Given the description of an element on the screen output the (x, y) to click on. 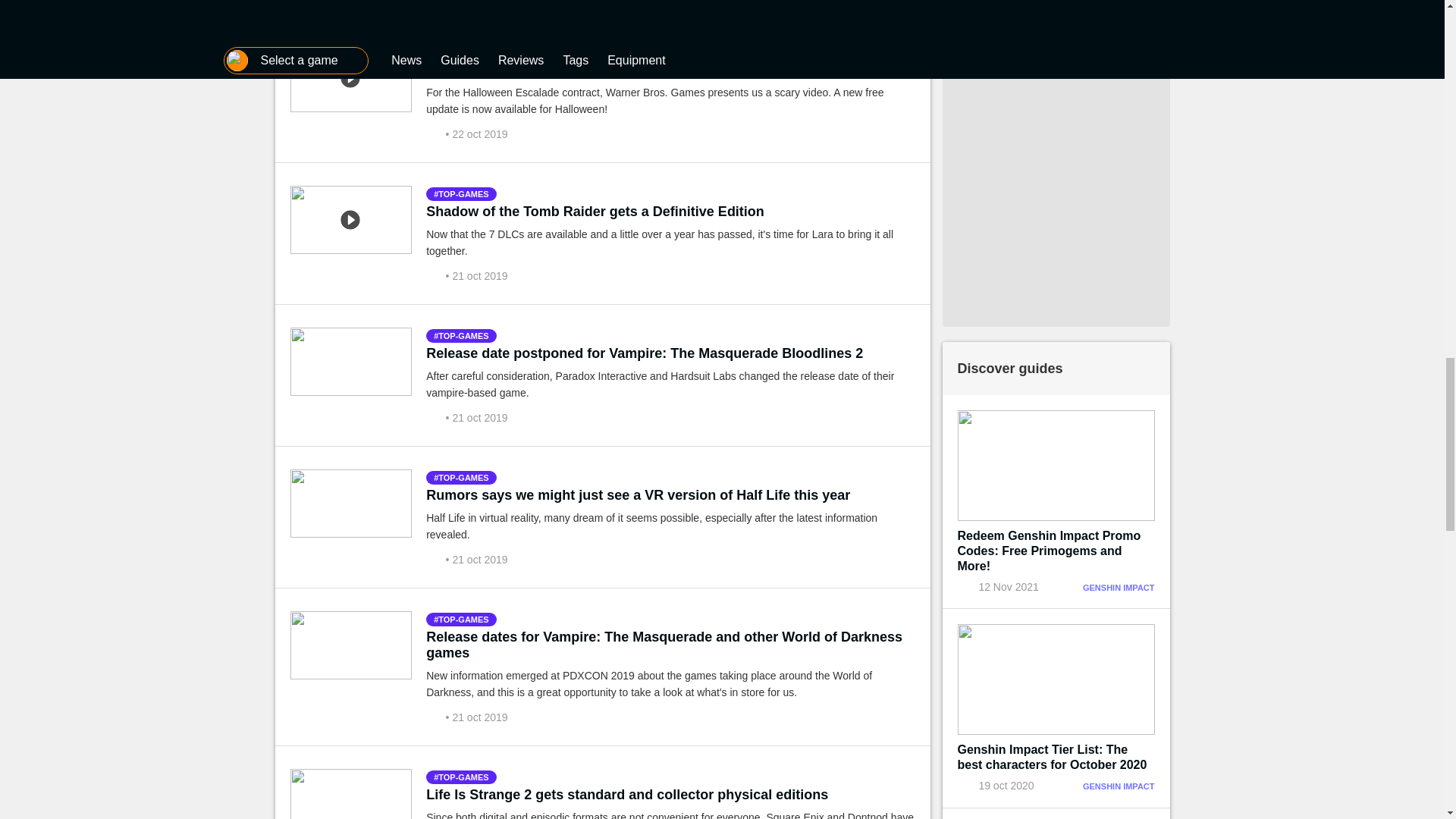
Shadow of the Tomb Raider gets a Definitive Edition (595, 211)
GENSHIN IMPACT (1118, 587)
